Given the description of an element on the screen output the (x, y) to click on. 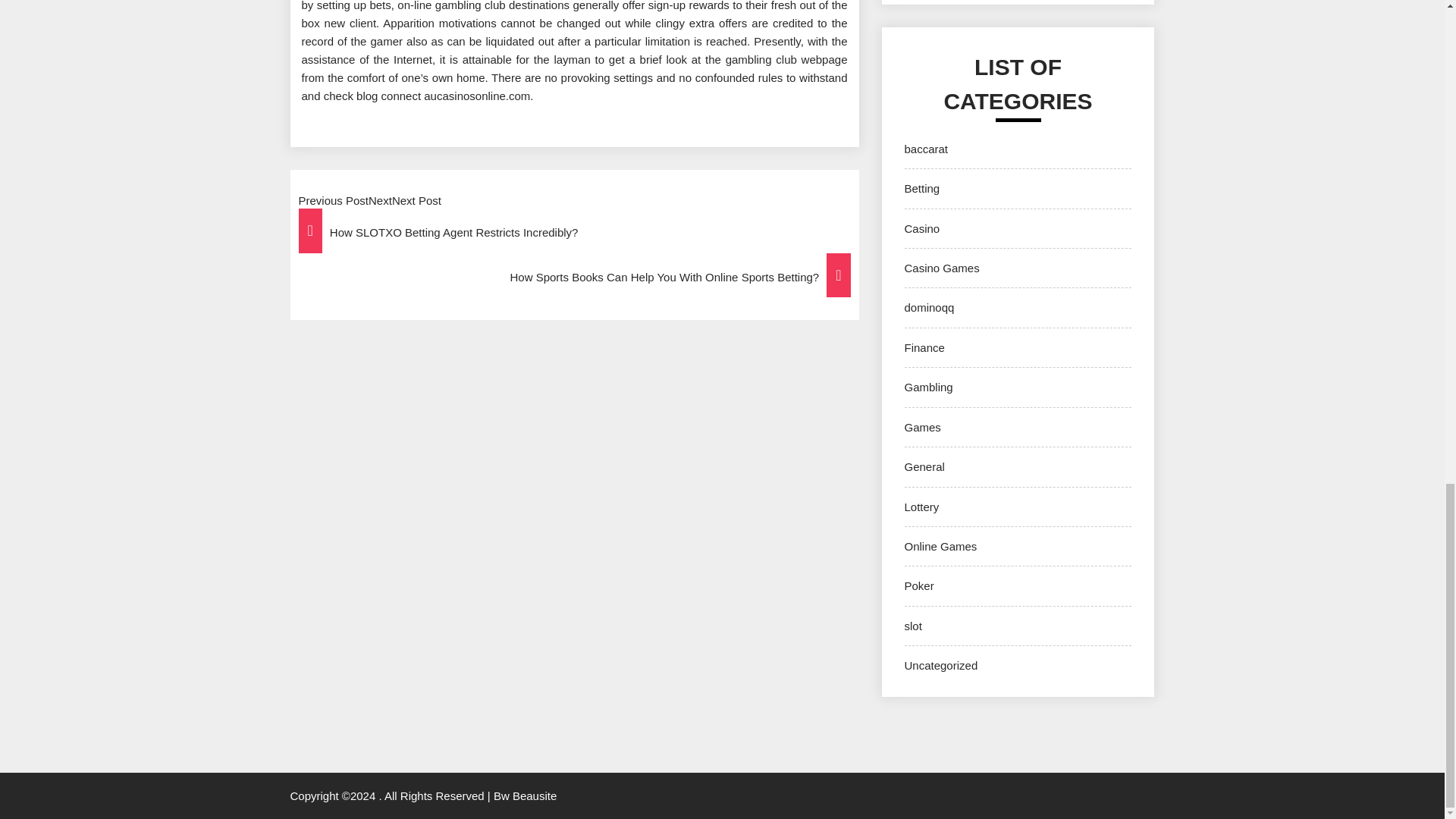
Gambling (928, 386)
Online Games (940, 545)
Games (922, 427)
Uncategorized (940, 665)
Poker (918, 585)
Lottery (921, 506)
Finance (923, 347)
Casino Games (941, 267)
Betting (921, 187)
slot (912, 625)
baccarat (925, 148)
General (923, 466)
Casino (921, 228)
dominoqq (928, 307)
